Given the description of an element on the screen output the (x, y) to click on. 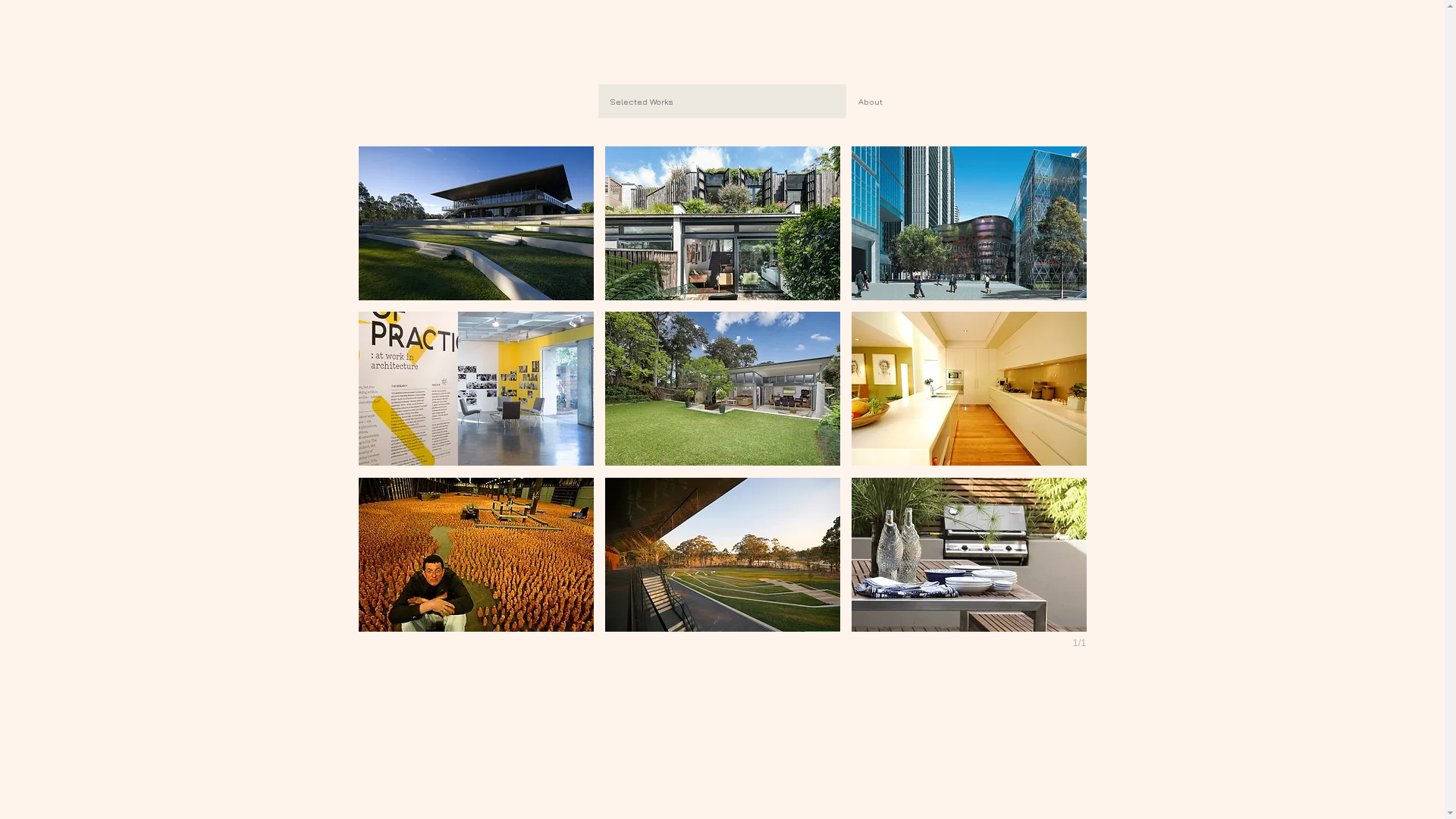
Selected Works Element type: text (721, 101)
About Element type: text (969, 101)
